Given the description of an element on the screen output the (x, y) to click on. 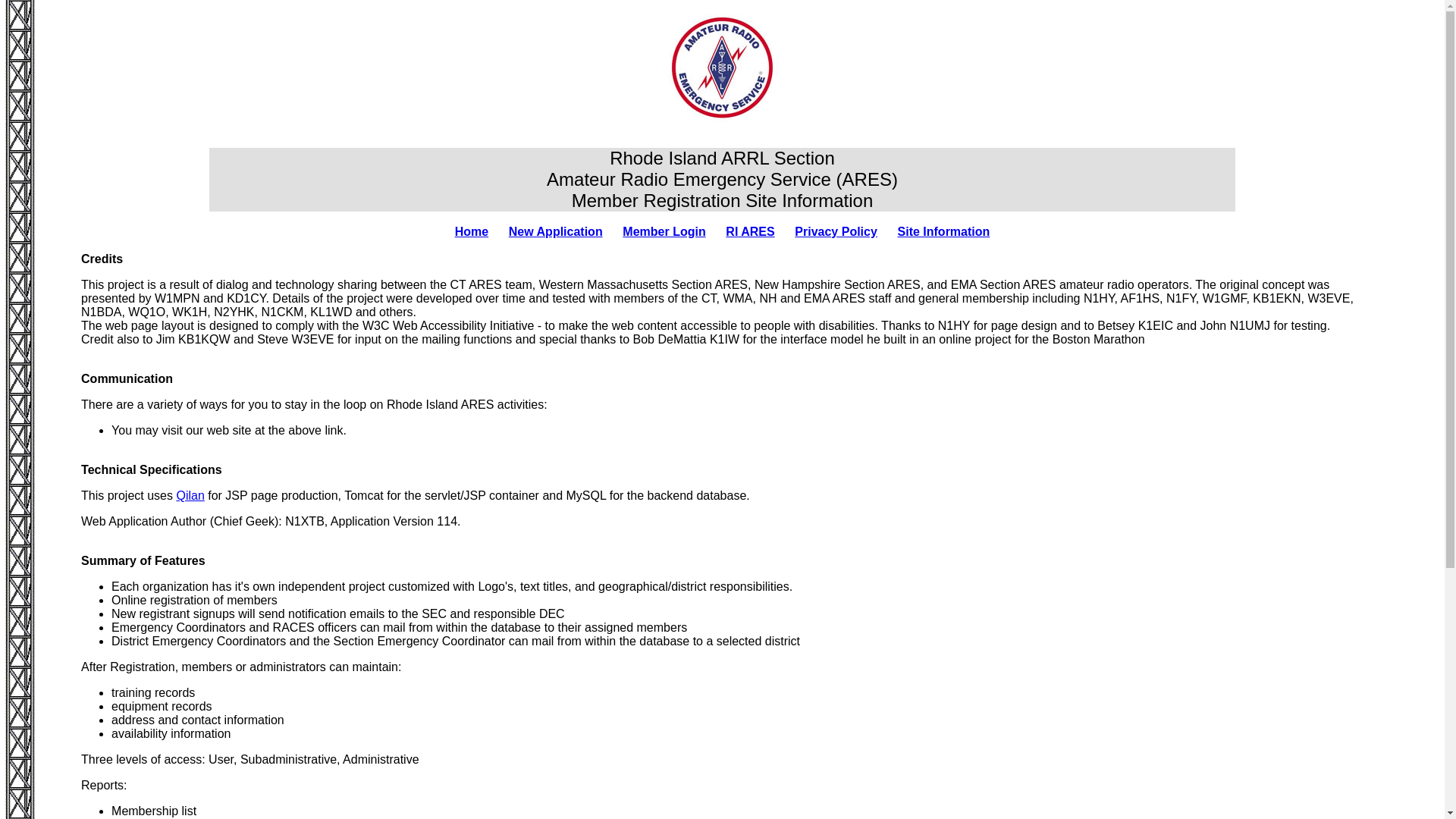
RI ARES (749, 231)
Home (470, 231)
Site Information (944, 231)
Privacy Policy (835, 231)
Member Login (663, 231)
Qilan (189, 495)
New Application (555, 231)
